Given the description of an element on the screen output the (x, y) to click on. 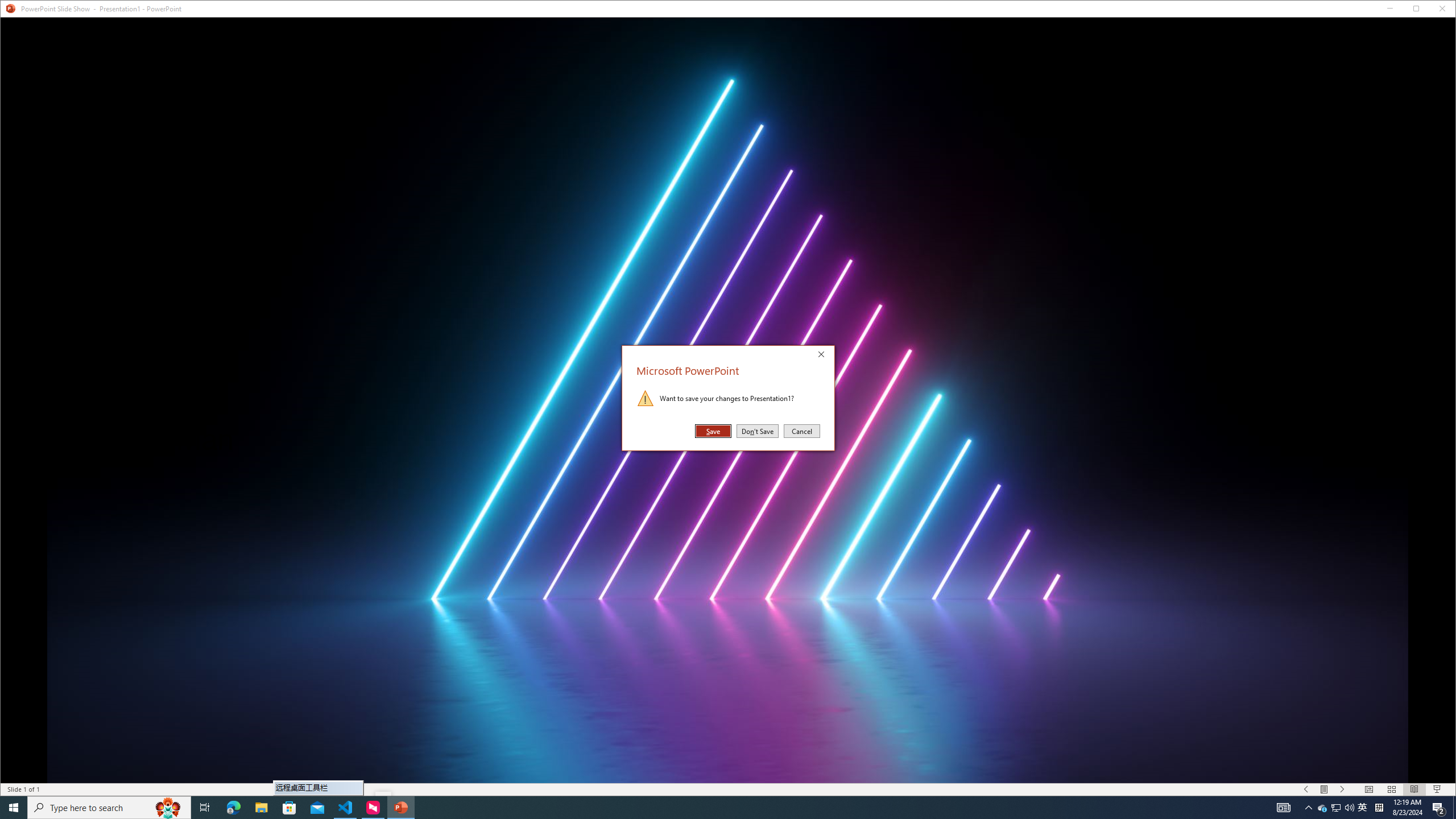
Menu On (1324, 789)
Search highlights icon opens search home window (167, 807)
Slide Show Next On (1342, 789)
Show desktop (1454, 807)
Warning Icon (645, 398)
Don't Save (757, 431)
Q2790: 100% (1349, 807)
Running applications (700, 807)
Microsoft Edge (233, 807)
